Given the description of an element on the screen output the (x, y) to click on. 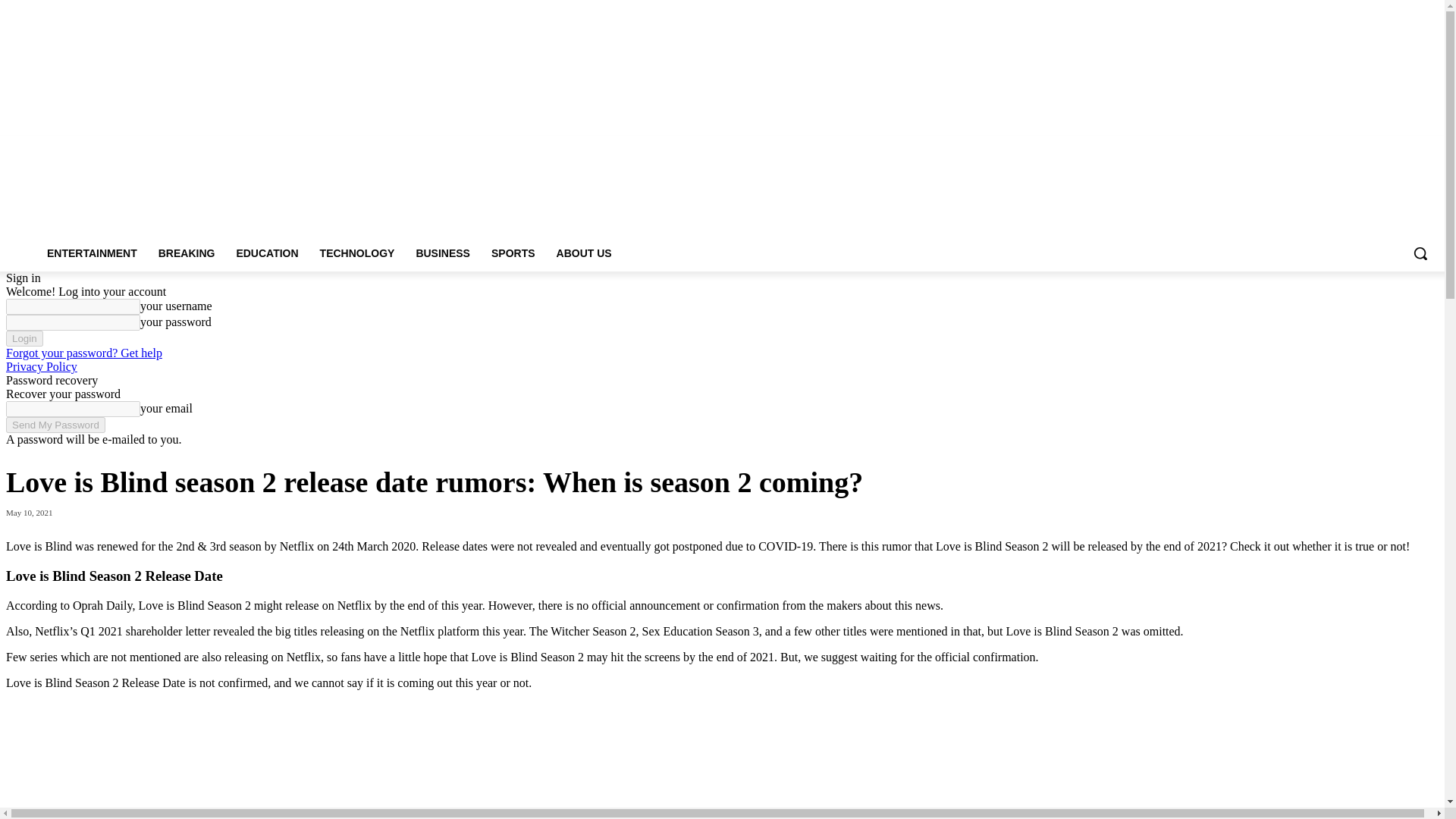
Send My Password (54, 424)
TECHNOLOGY (357, 253)
BREAKING (186, 253)
Forgot your password? Get help (83, 352)
ABOUT US (584, 253)
Login (24, 338)
Privacy Policy (41, 366)
ENTERTAINMENT (92, 253)
EDUCATION (266, 253)
BUSINESS (442, 253)
SPORTS (513, 253)
